Given the description of an element on the screen output the (x, y) to click on. 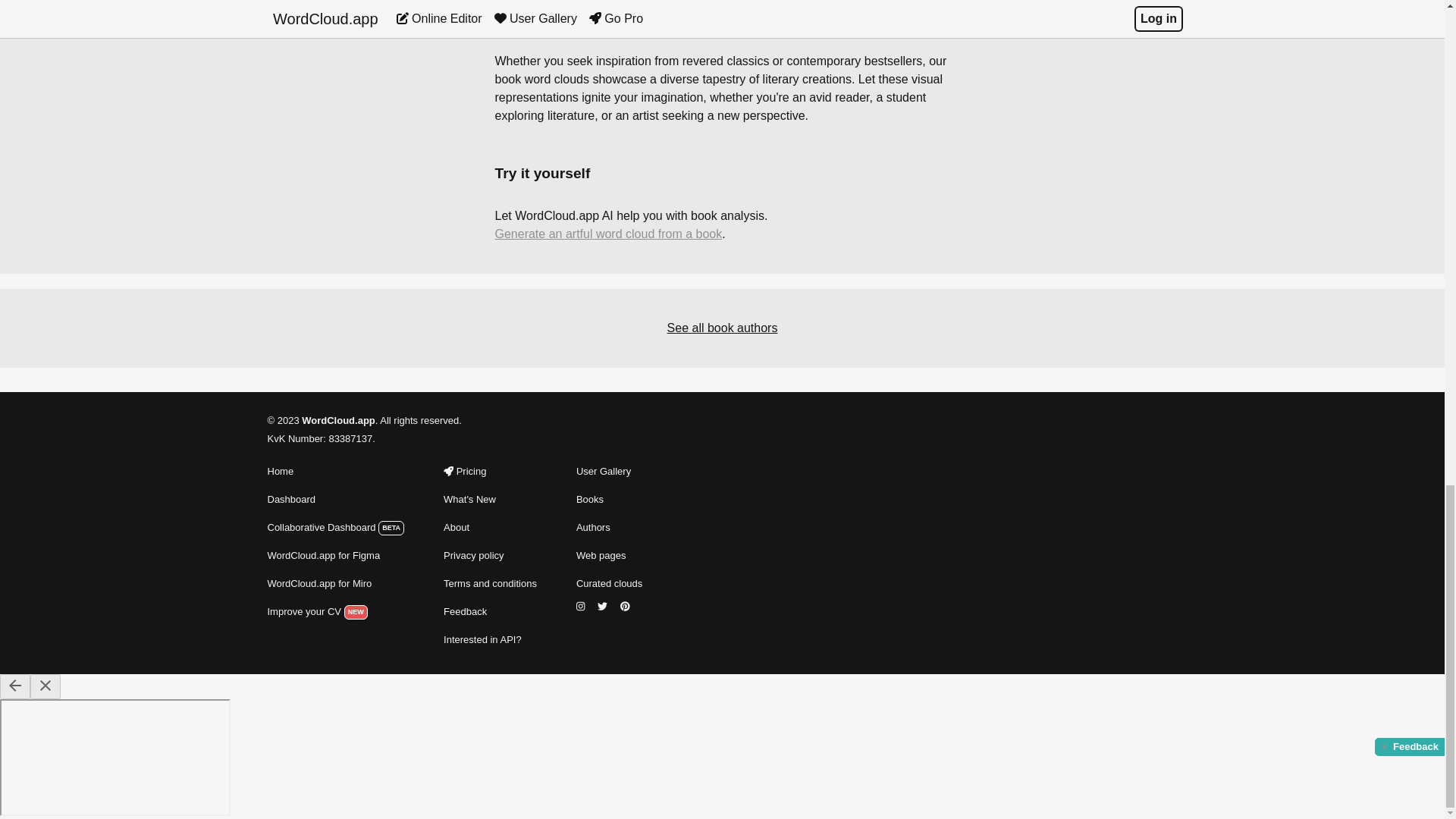
About WordCloud (490, 527)
Release notes (490, 499)
WordCloud.app dashboard (335, 499)
Feedback (490, 611)
Collection of inspiring word clouds (609, 583)
WordClouds for hundreds of books (609, 527)
WordCloud.app dashboard (335, 527)
Follow WordCloud.app on Instagram (582, 607)
WordCloud.app: word cloud builder (335, 471)
Interested in accessing the WordCloud.app API? (490, 639)
WordClouds for hundreds of books (609, 499)
WordClouds for hundreds of web pages (609, 556)
Follow WordCloud.app on Twitter (603, 607)
Explore User-Created Word Clouds (609, 471)
